Given the description of an element on the screen output the (x, y) to click on. 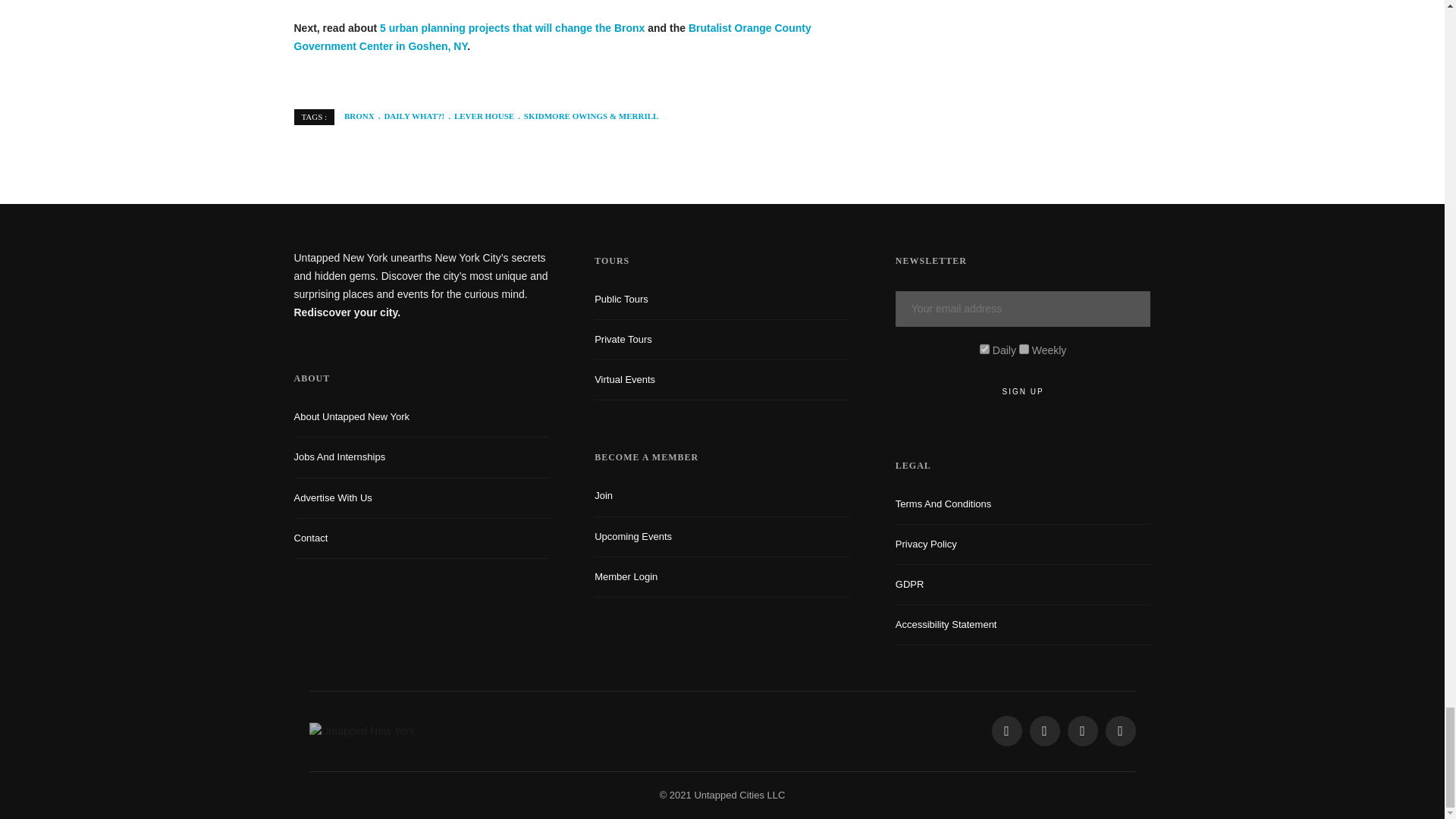
Sign up (1023, 391)
7cff6a70fd (1024, 348)
e99a09560c (984, 348)
